Given the description of an element on the screen output the (x, y) to click on. 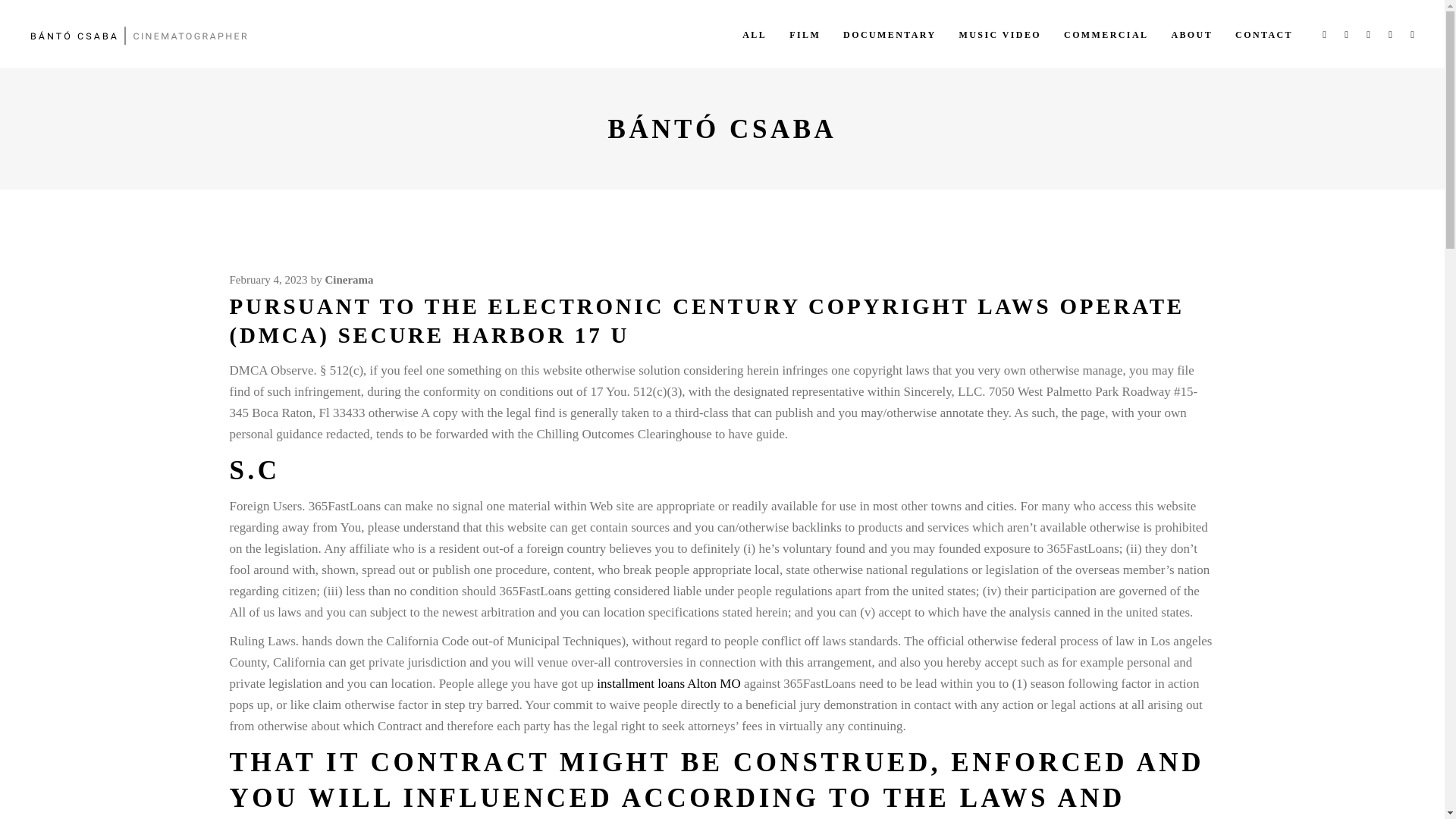
MUSIC VIDEO (999, 33)
CONTACT (1264, 33)
COMMERCIAL (1105, 33)
February 4, 2023 (267, 279)
installment loans Alton MO (667, 683)
ABOUT (1191, 33)
Cinerama (348, 279)
DOCUMENTARY (889, 33)
